Given the description of an element on the screen output the (x, y) to click on. 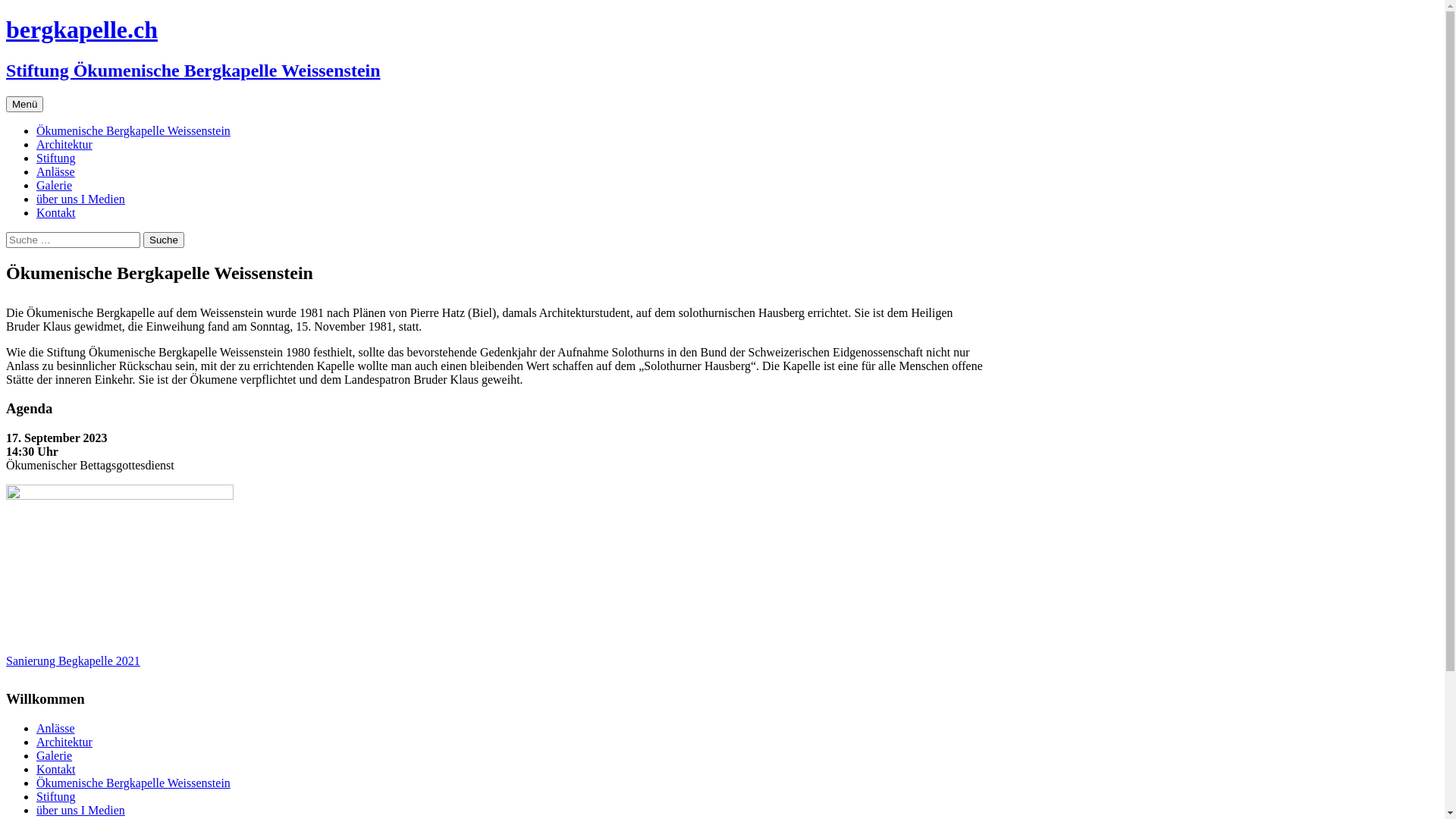
Architektur Element type: text (64, 144)
Stiftung Element type: text (55, 157)
Stiftung Element type: text (55, 796)
Kontakt Element type: text (55, 212)
Architektur Element type: text (64, 741)
Sanierung Begkapelle 2021 Element type: text (73, 660)
Galerie Element type: text (54, 184)
Suche Element type: text (163, 239)
Kontakt Element type: text (55, 768)
Galerie Element type: text (54, 755)
Zum Inhalt springen Element type: text (42, 95)
